Given the description of an element on the screen output the (x, y) to click on. 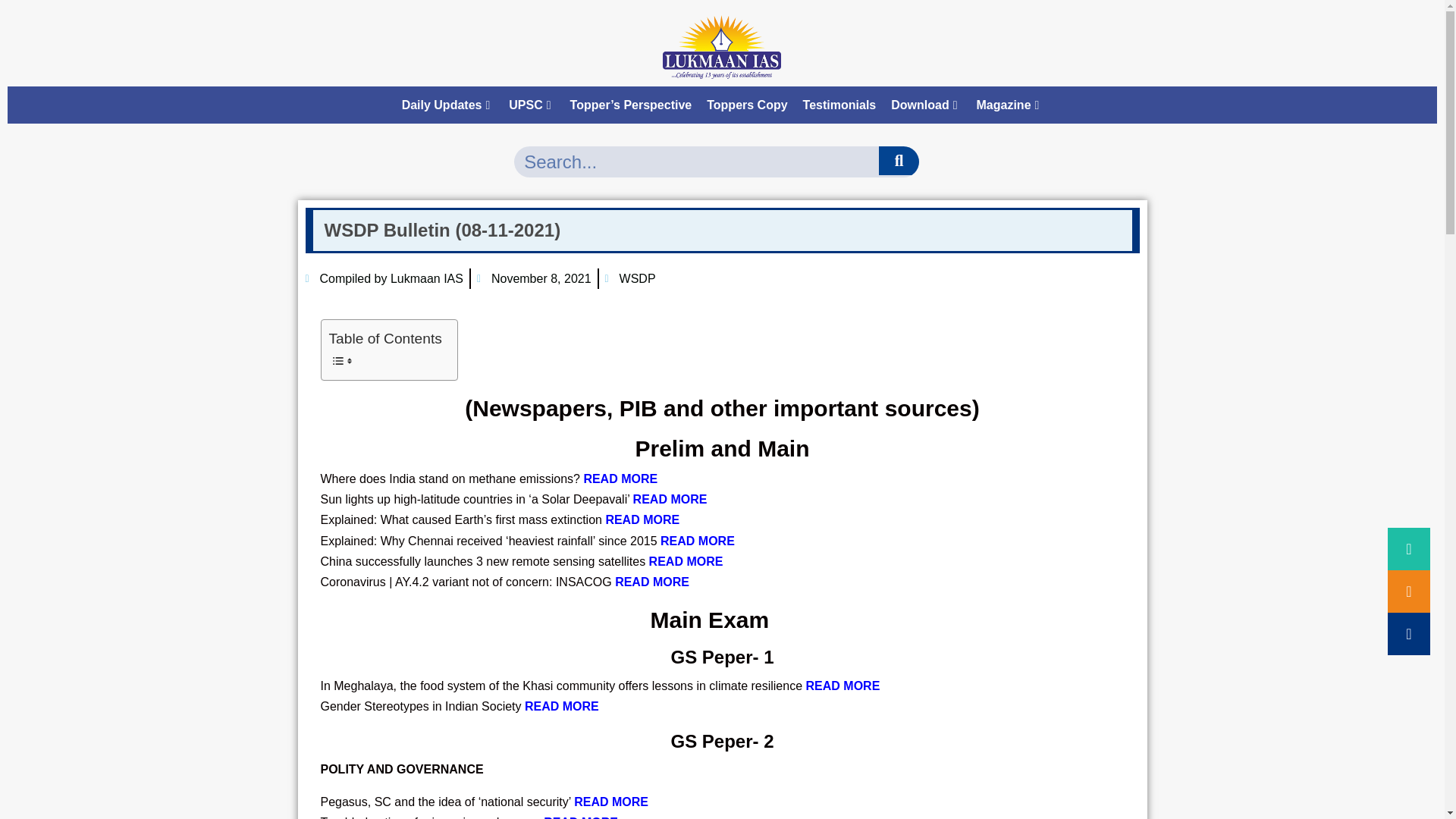
Toppers Copy (746, 105)
Magazine (1010, 105)
Testimonials (838, 105)
Daily Updates (448, 105)
Download (925, 105)
UPSC (531, 105)
